Given the description of an element on the screen output the (x, y) to click on. 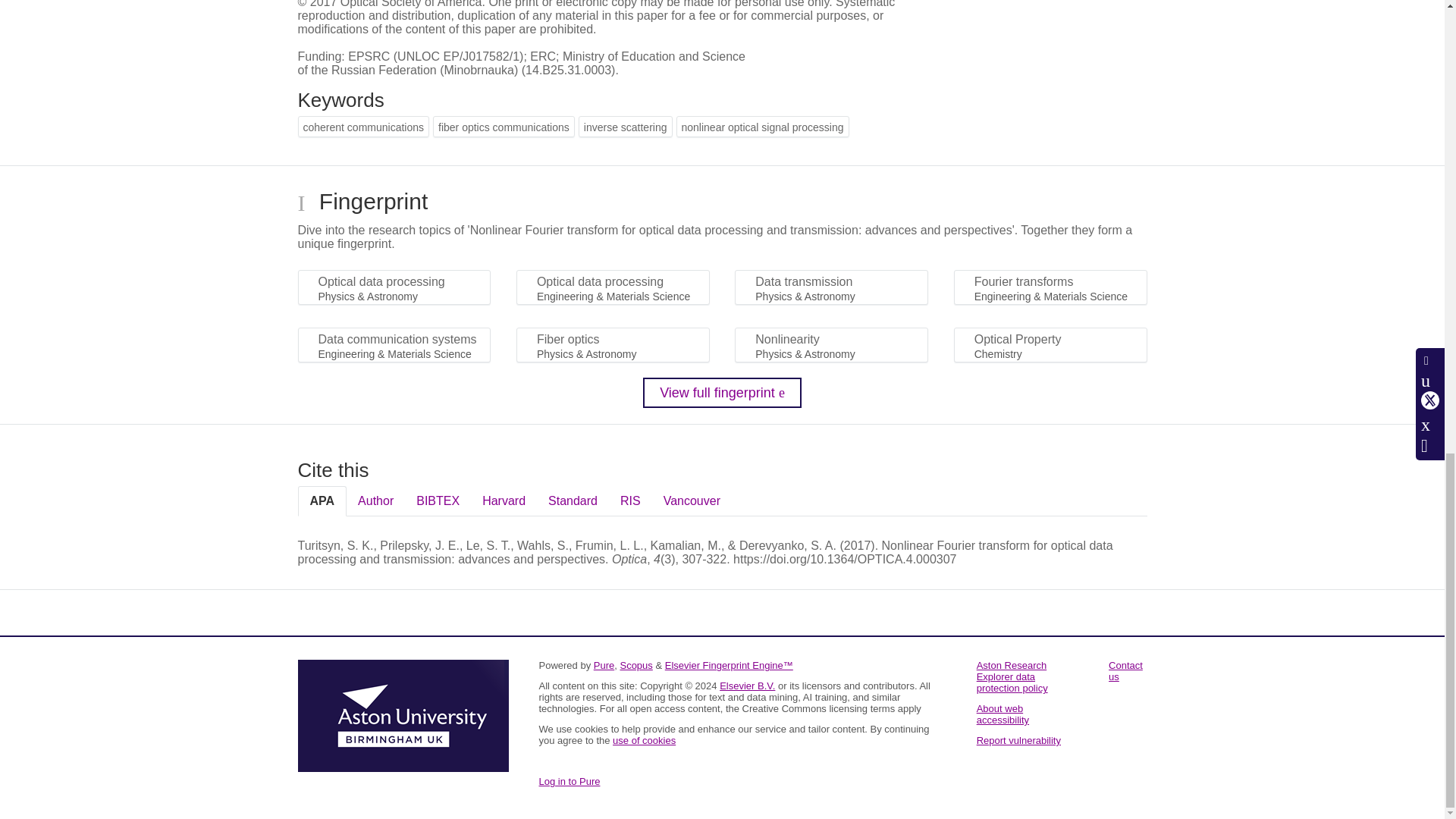
View full fingerprint (722, 392)
